Given the description of an element on the screen output the (x, y) to click on. 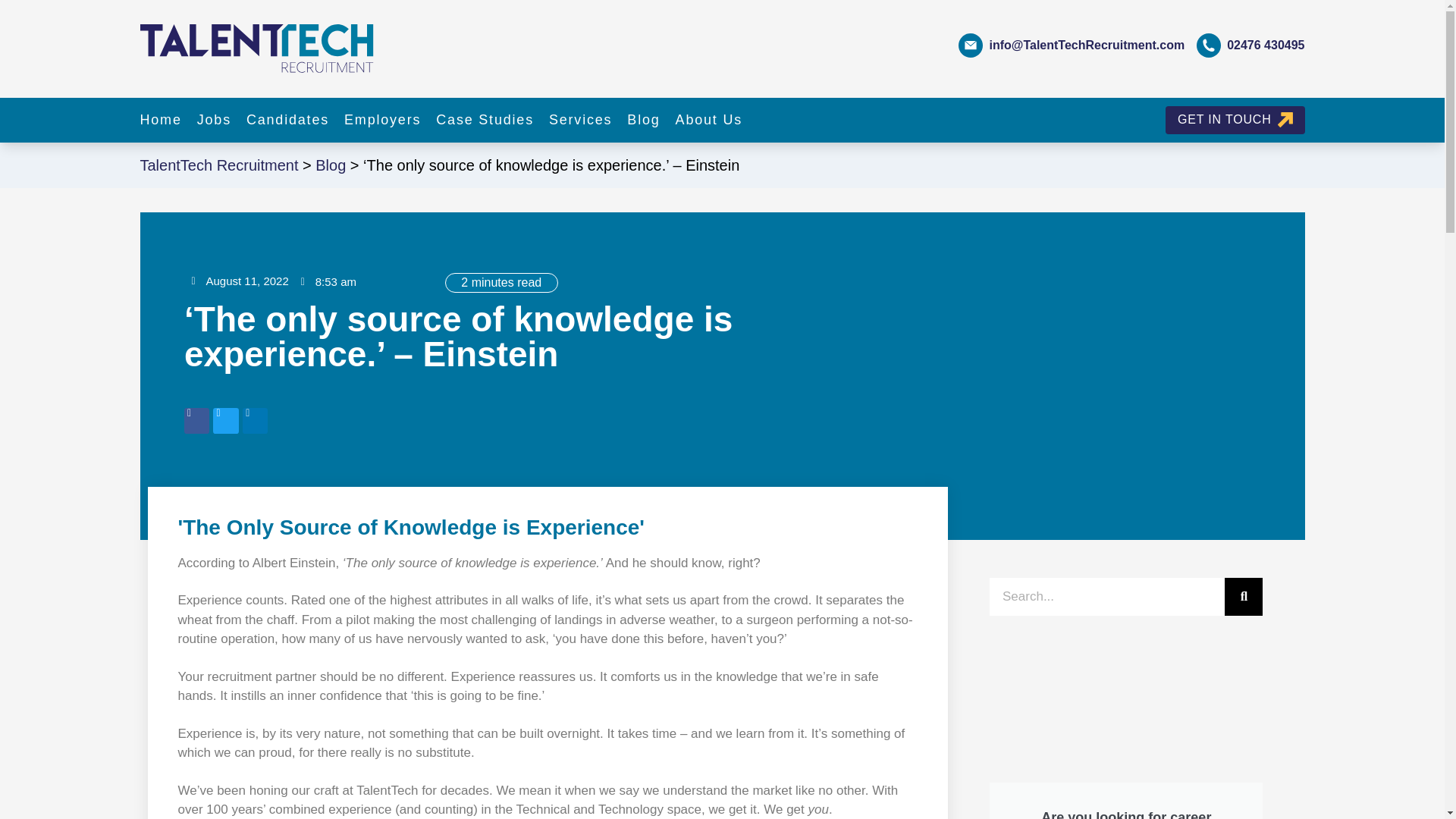
Services (579, 119)
TalentTech Recruitment (218, 165)
GET IN TOUCH (1235, 120)
Go to Blog. (330, 165)
Home (159, 119)
Employers (381, 119)
Blog (330, 165)
August 11, 2022 (239, 281)
About Us (708, 119)
Jobs (213, 119)
